Given the description of an element on the screen output the (x, y) to click on. 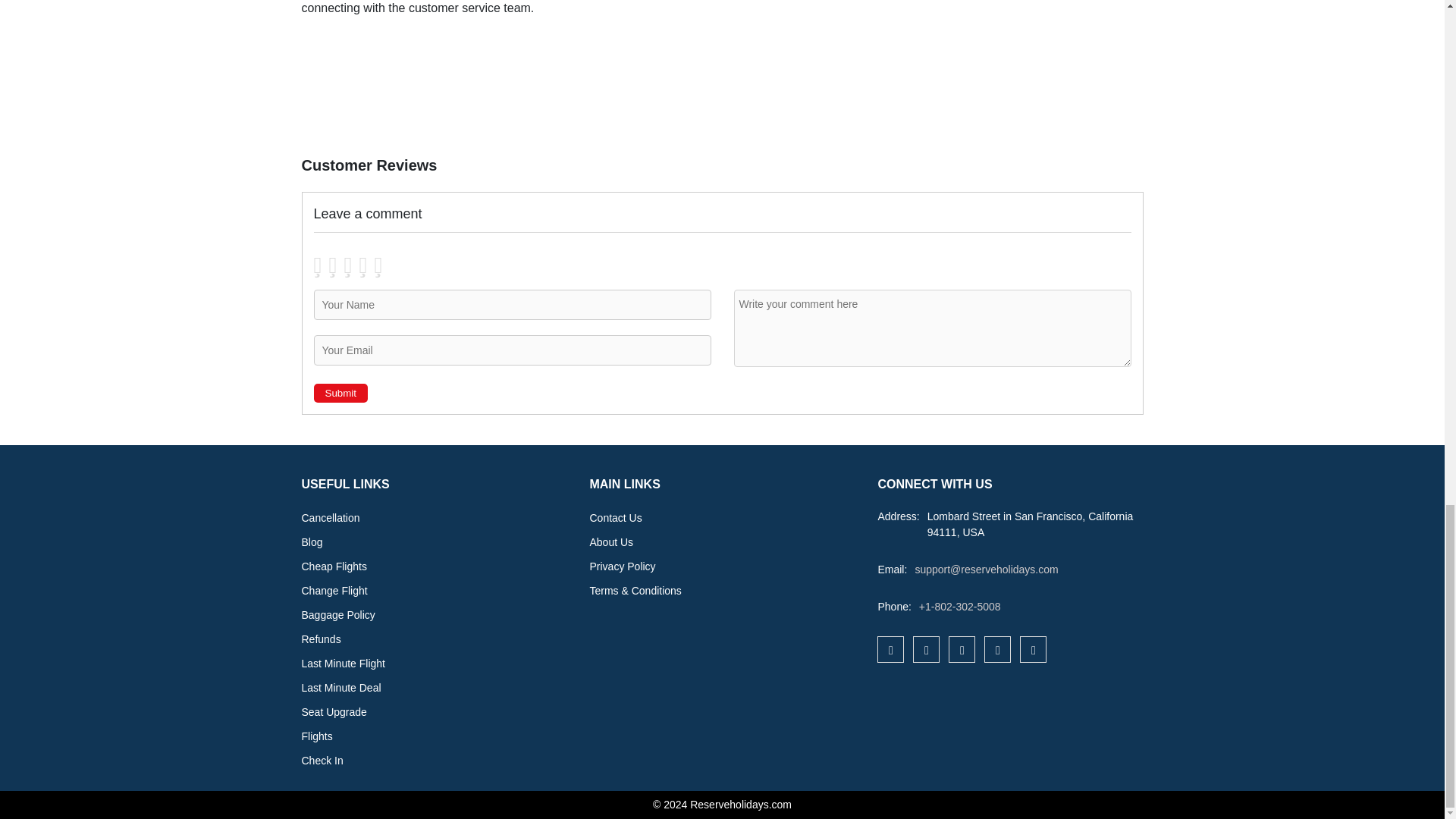
Flights (317, 736)
Check In (322, 760)
Last Minute Flight (343, 663)
Submit (341, 393)
Last Minute Deal (341, 687)
Cancellation (330, 517)
Baggage Policy (338, 614)
Cheap Flights (333, 566)
Privacy Policy (622, 566)
Seat Upgrade (333, 711)
